Given the description of an element on the screen output the (x, y) to click on. 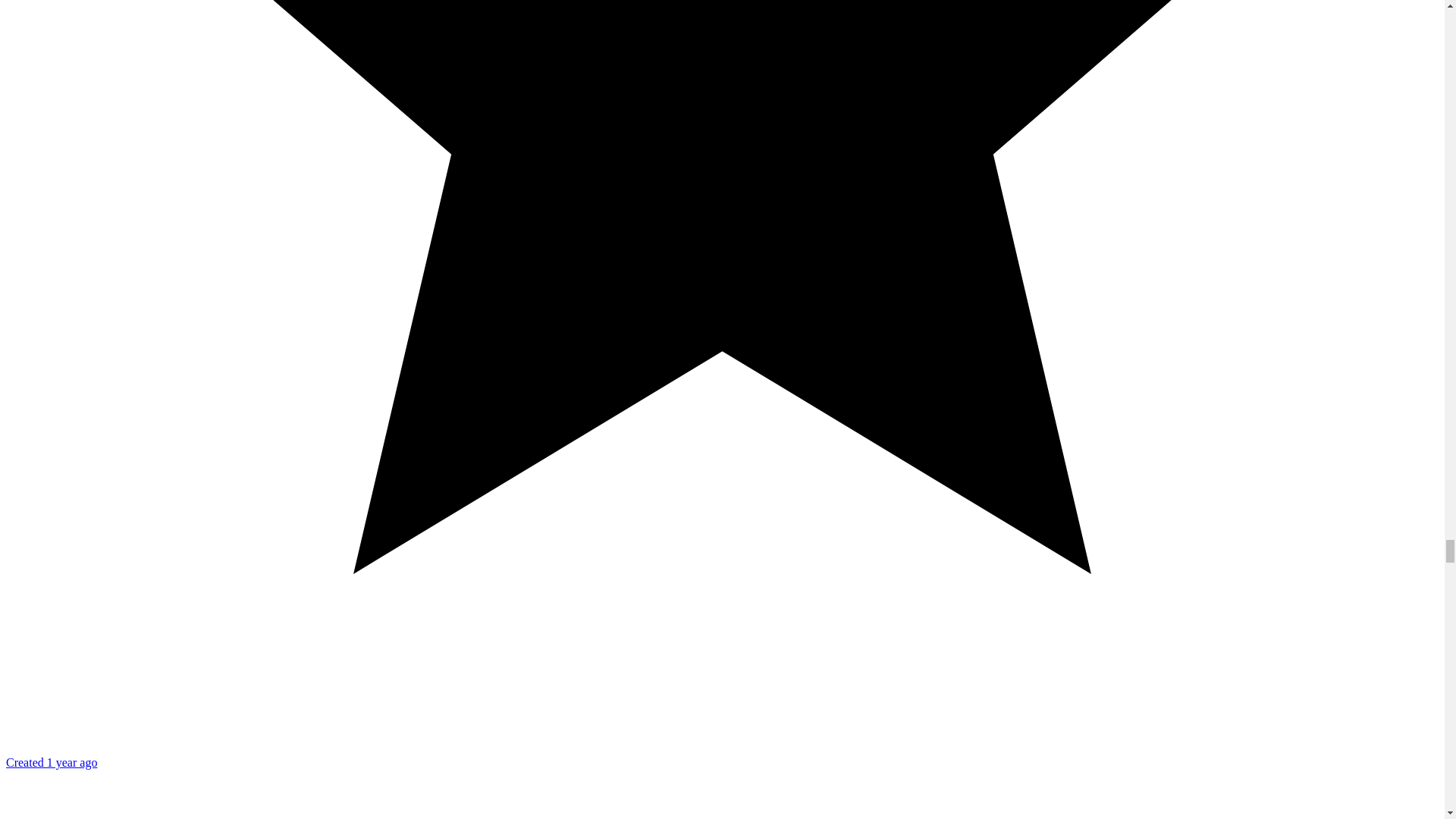
Sun, Jun 25, 2023 1:34 AM (51, 762)
